Given the description of an element on the screen output the (x, y) to click on. 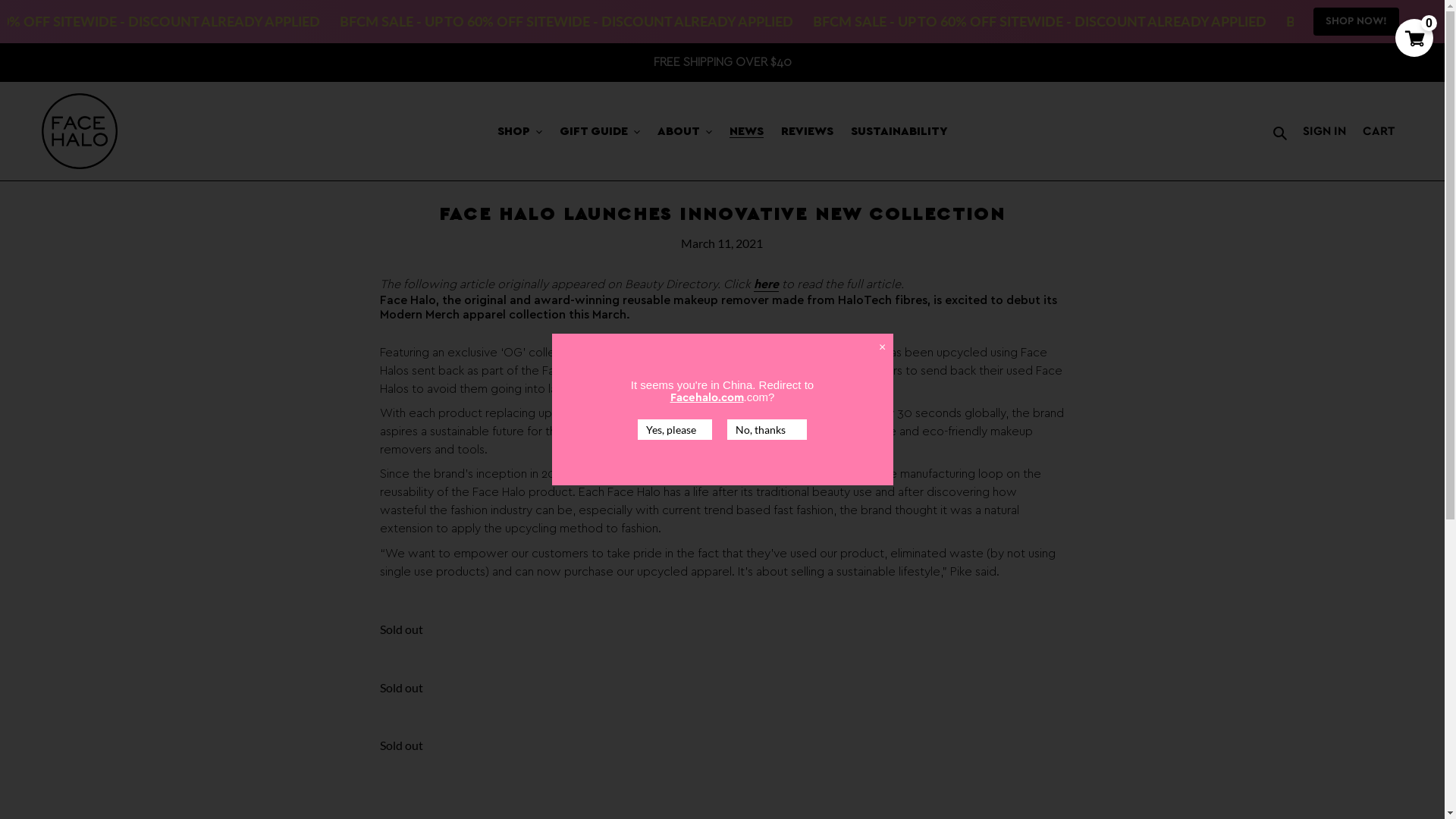
CART
CART
CART Element type: text (1378, 130)
here Element type: text (765, 284)
SHOP NOW! Element type: text (1356, 21)
SIGN IN
SIGN IN Element type: text (1324, 130)
0 Element type: text (1414, 37)
ABOUT Element type: text (684, 130)
Search Element type: text (1280, 131)
REVIEWS Element type: text (806, 130)
GIFT GUIDE Element type: text (599, 130)
Facehalo.com Element type: text (706, 397)
NEWS Element type: text (746, 130)
SHOP Element type: text (519, 130)
SUSTAINABILITY Element type: text (898, 130)
FREE SHIPPING OVER $40 Element type: text (722, 61)
